Given the description of an element on the screen output the (x, y) to click on. 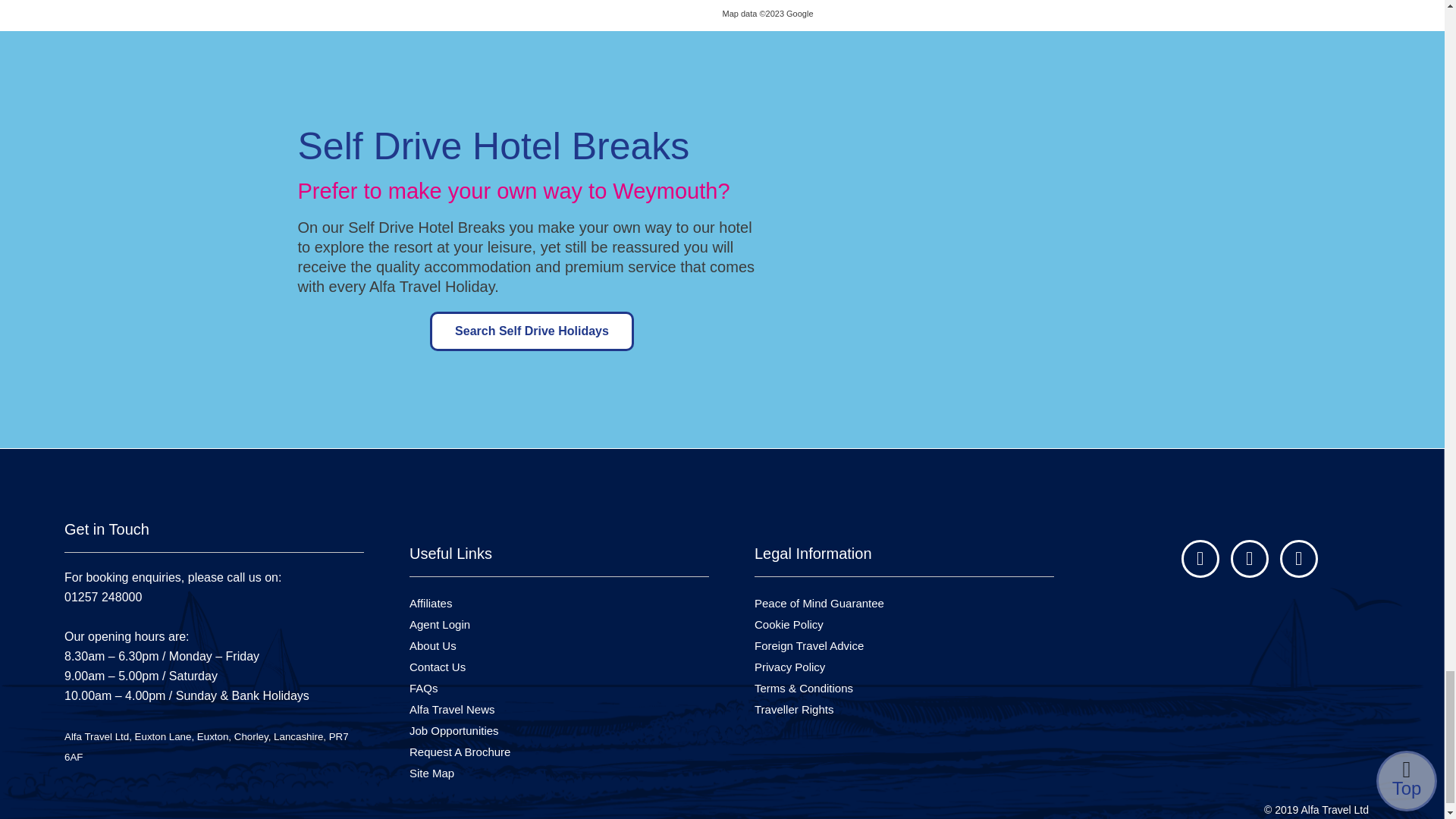
Affiliates (430, 603)
Request A Brochure (460, 751)
Agent Login (439, 624)
Job Opportunities (454, 730)
Search Self Drive Holidays (531, 331)
Peace of Mind Guarantee (818, 603)
01257 248000 (172, 606)
Site Map (431, 772)
Alfa Travel News (452, 708)
Contact Us (437, 666)
